Given the description of an element on the screen output the (x, y) to click on. 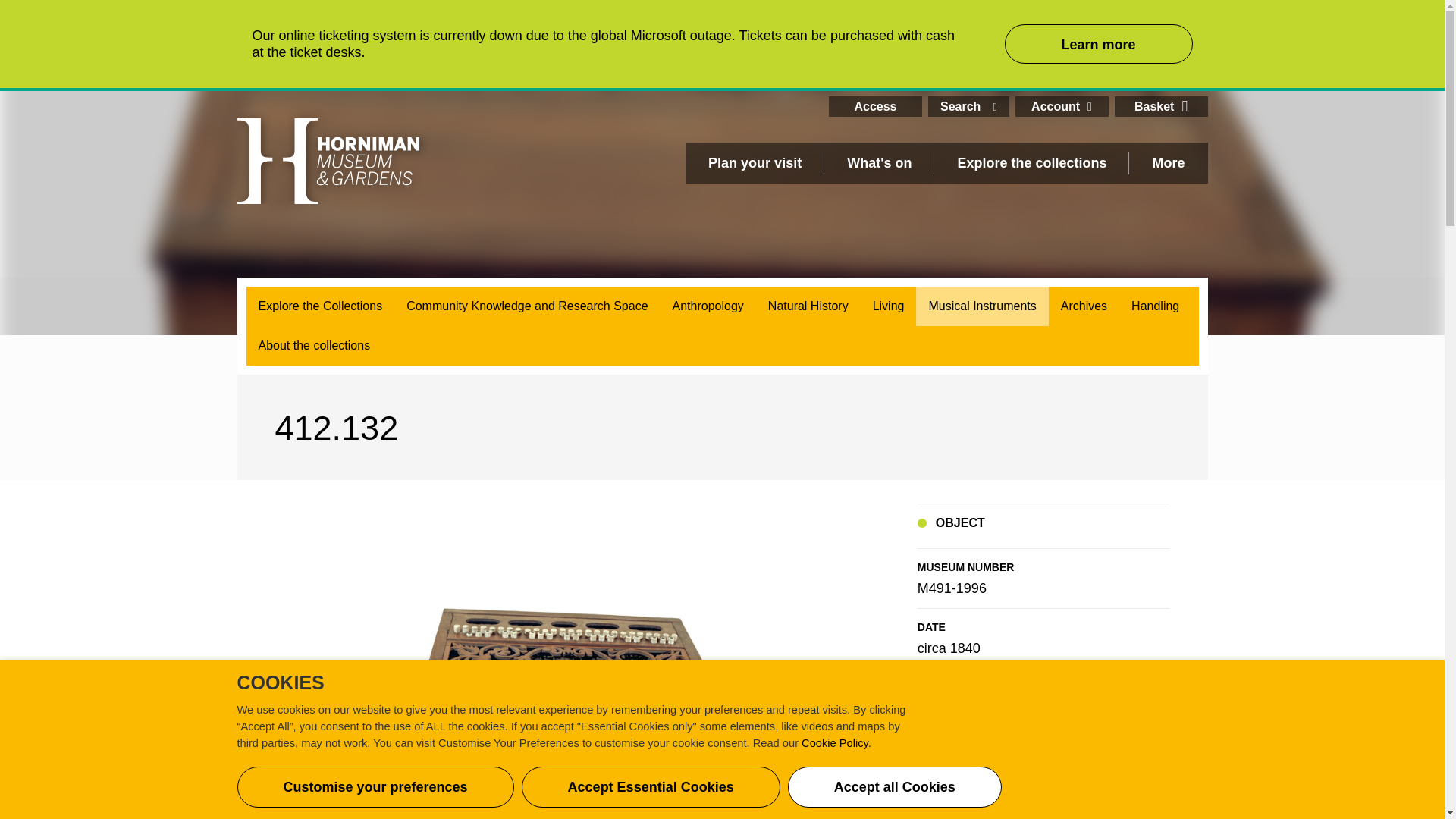
Learn more (1098, 43)
